Given the description of an element on the screen output the (x, y) to click on. 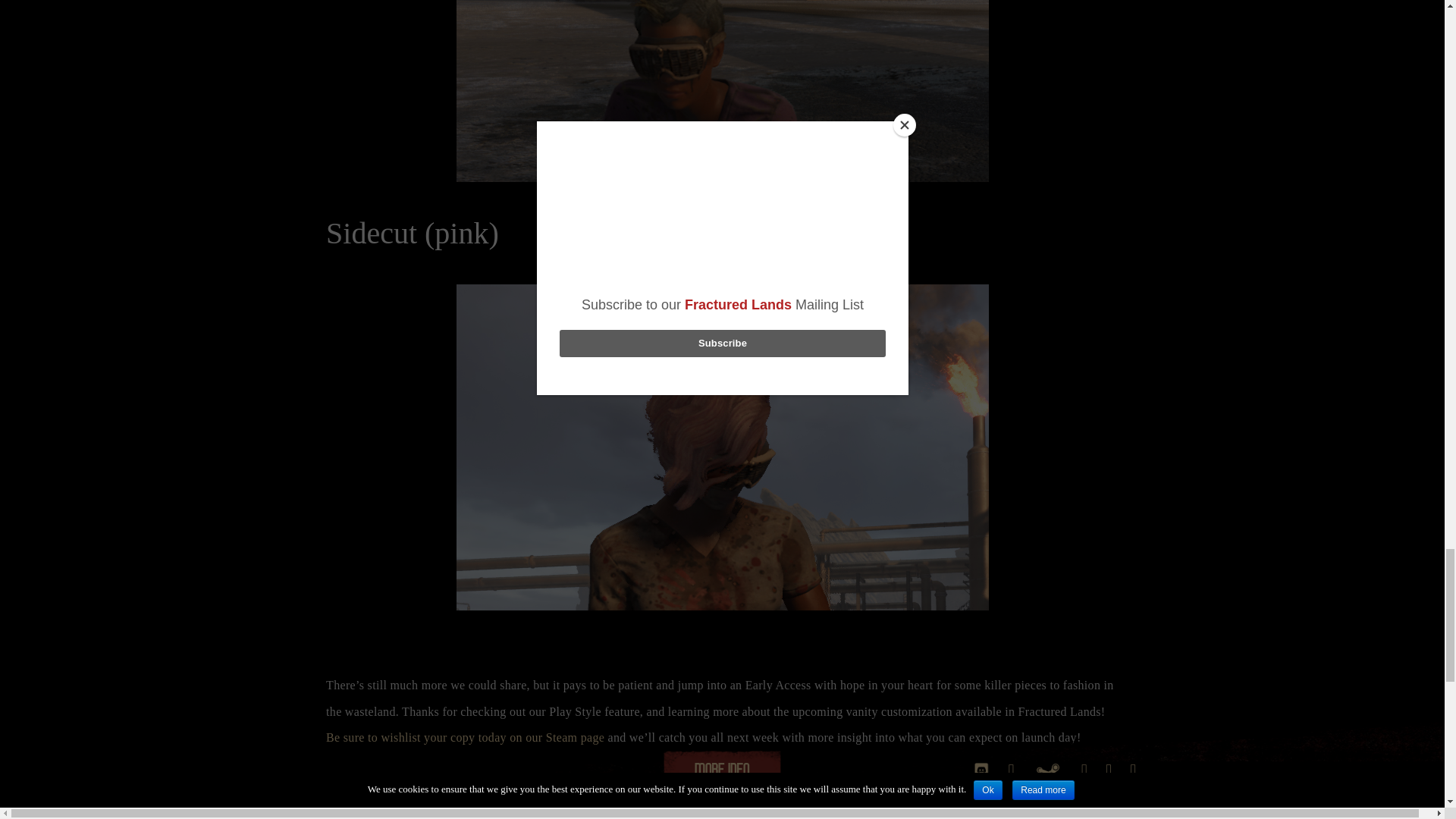
Be sure to wishlist your copy today on our Steam page (465, 737)
